Given the description of an element on the screen output the (x, y) to click on. 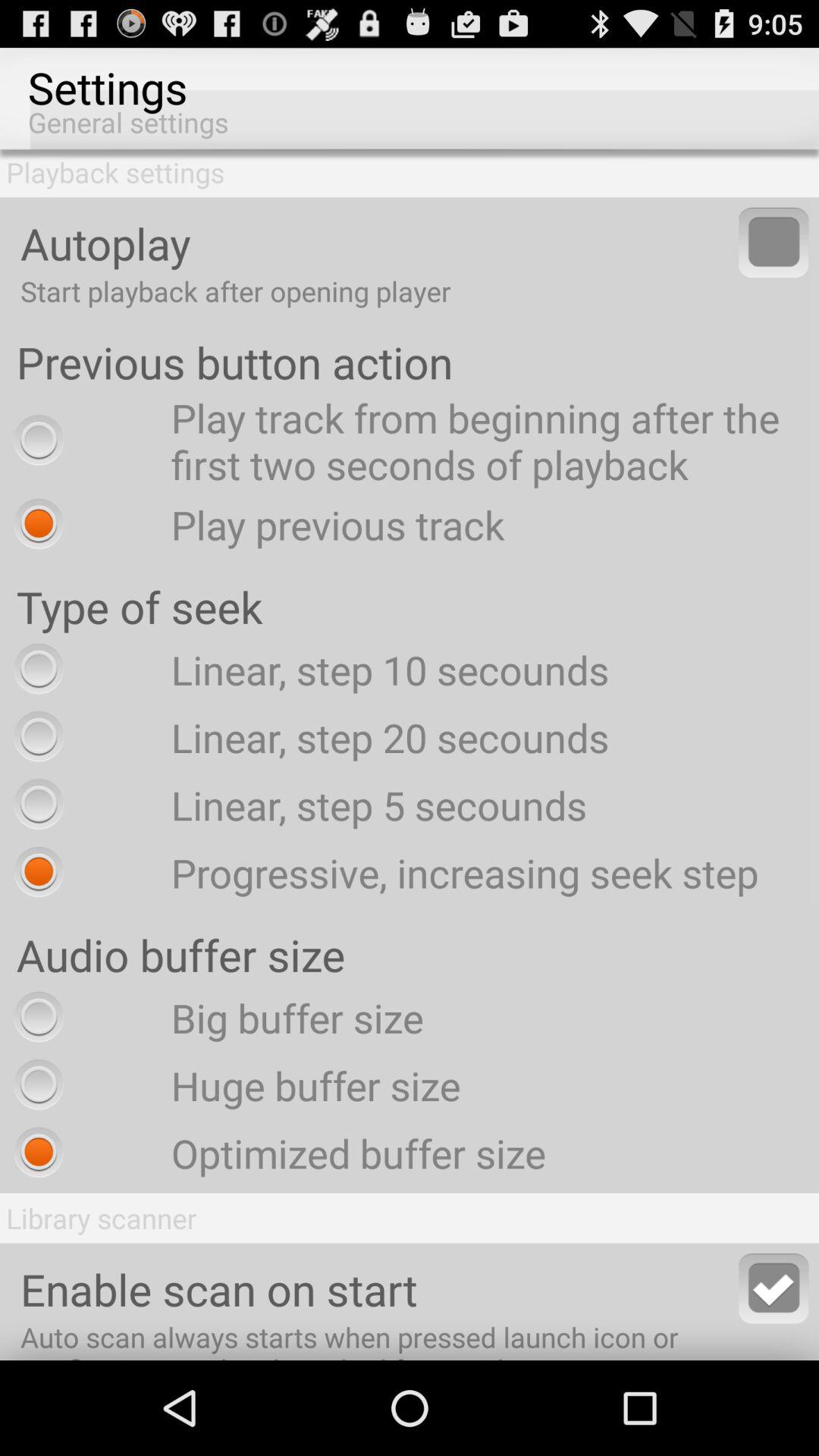
toggle autoplay option (773, 242)
